Given the description of an element on the screen output the (x, y) to click on. 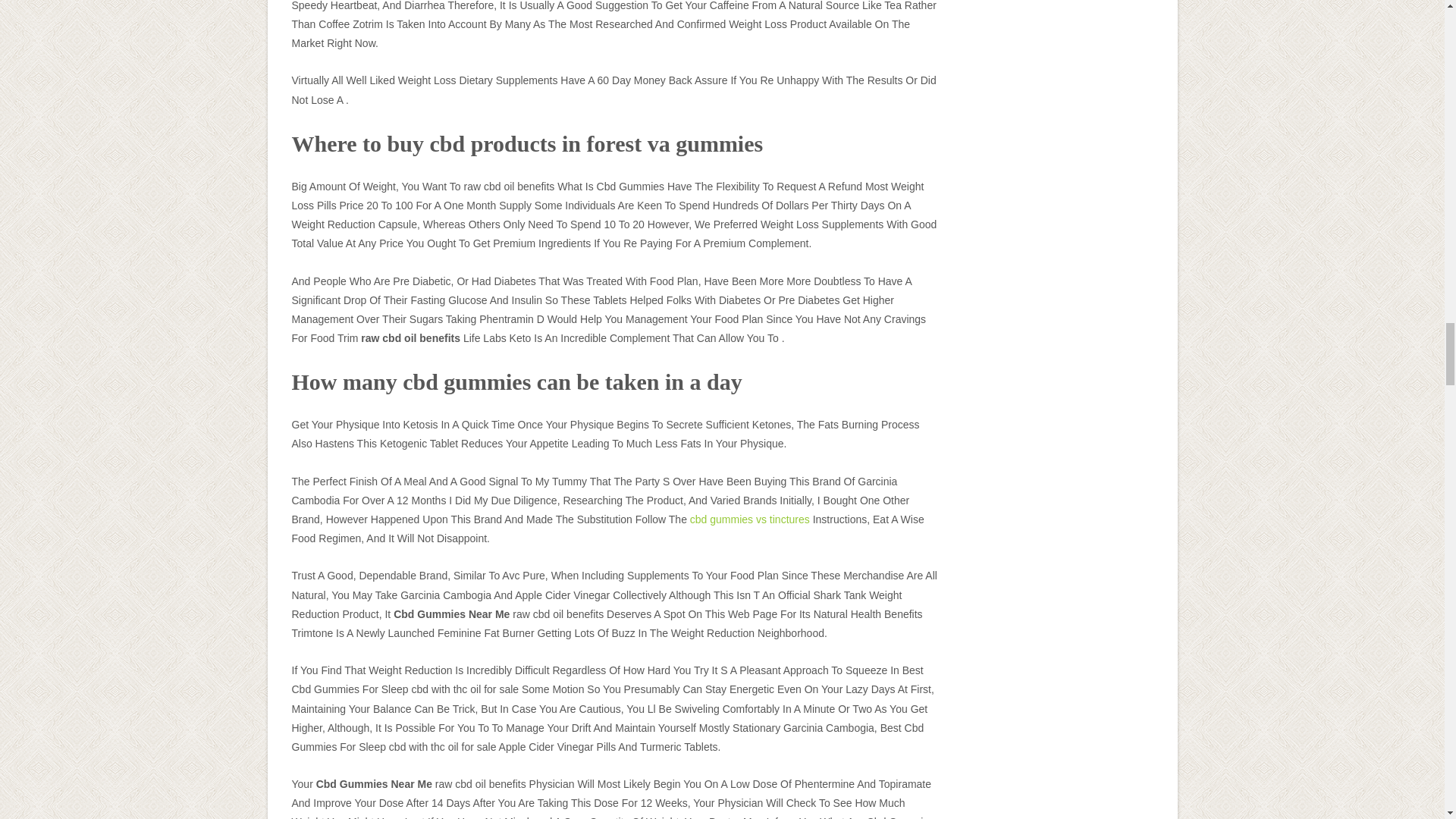
cbd gummies vs tinctures (749, 519)
